Given the description of an element on the screen output the (x, y) to click on. 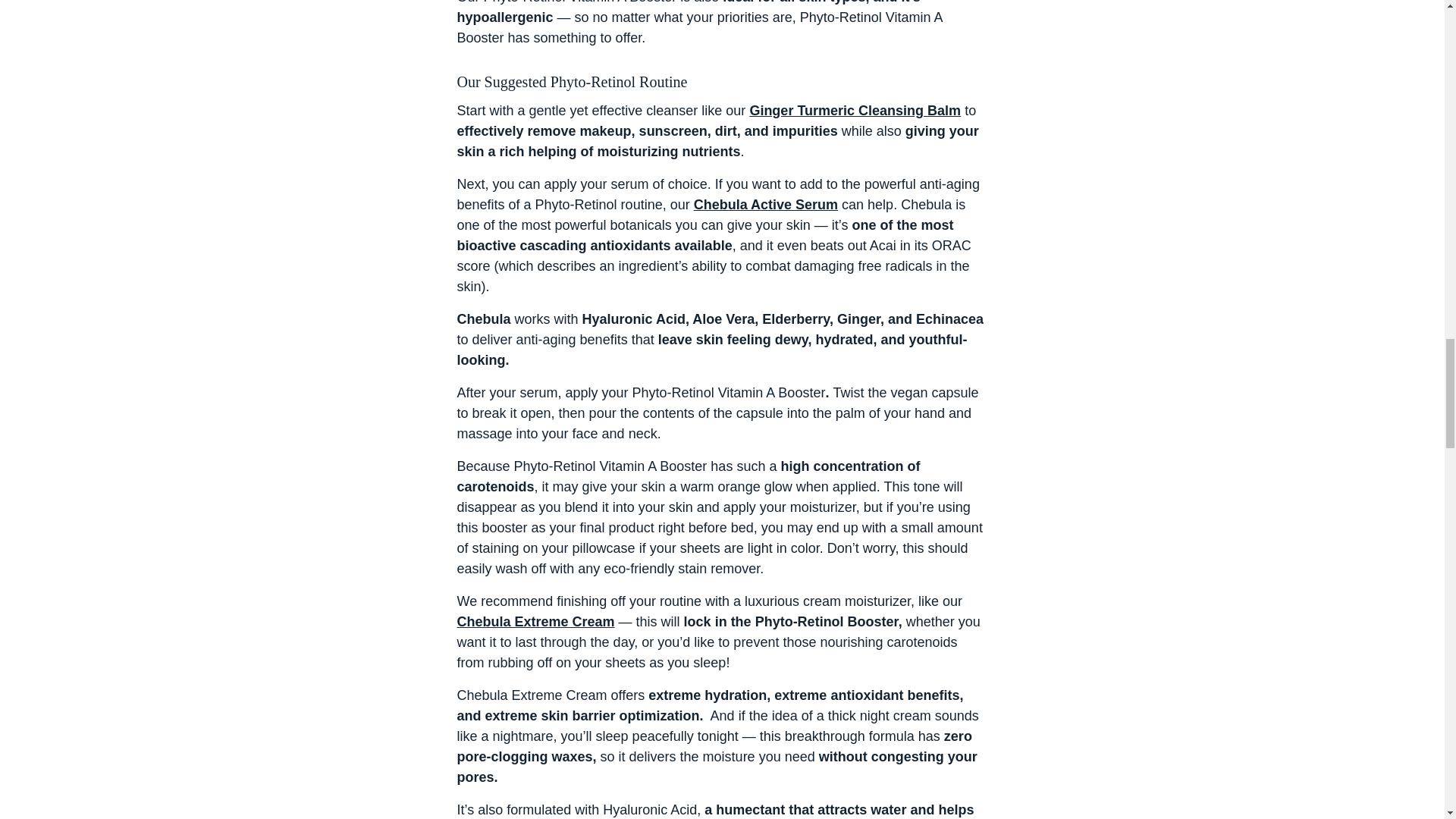
Ginger Turmeric Cleansing Balm (854, 110)
Chebula Extreme Cream (535, 621)
Chebula Active Serum (766, 204)
